Given the description of an element on the screen output the (x, y) to click on. 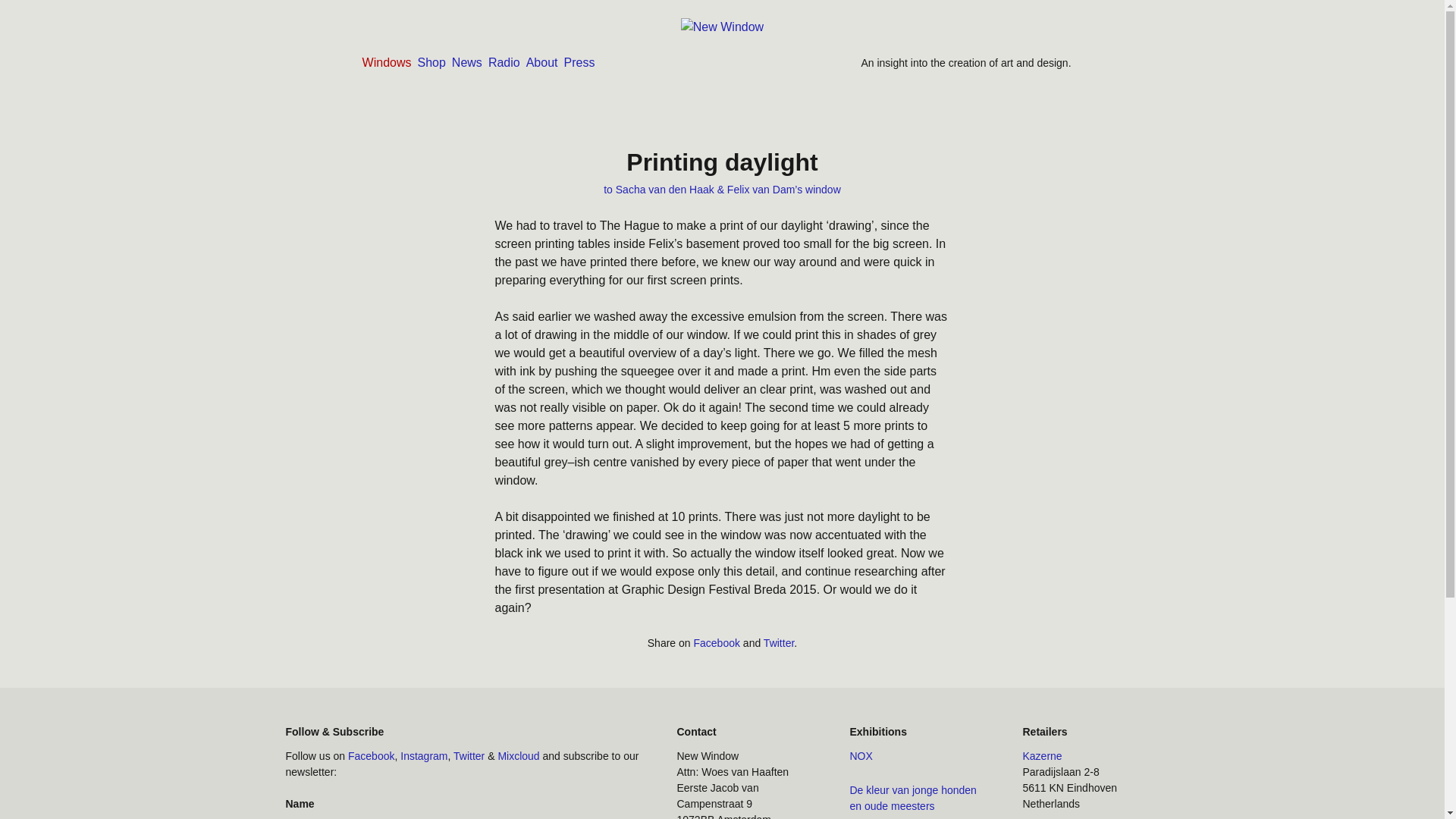
News (466, 62)
Windows (387, 62)
Facebook (370, 755)
About (541, 62)
Mixcloud (517, 755)
Facebook (716, 643)
Radio (503, 62)
Twitter (777, 643)
NOX (860, 755)
Shop (430, 62)
Twitter (468, 755)
Kazerne (1041, 755)
De kleur van jonge honden en oude meesters (911, 797)
Press (579, 62)
Instagram (423, 755)
